Given the description of an element on the screen output the (x, y) to click on. 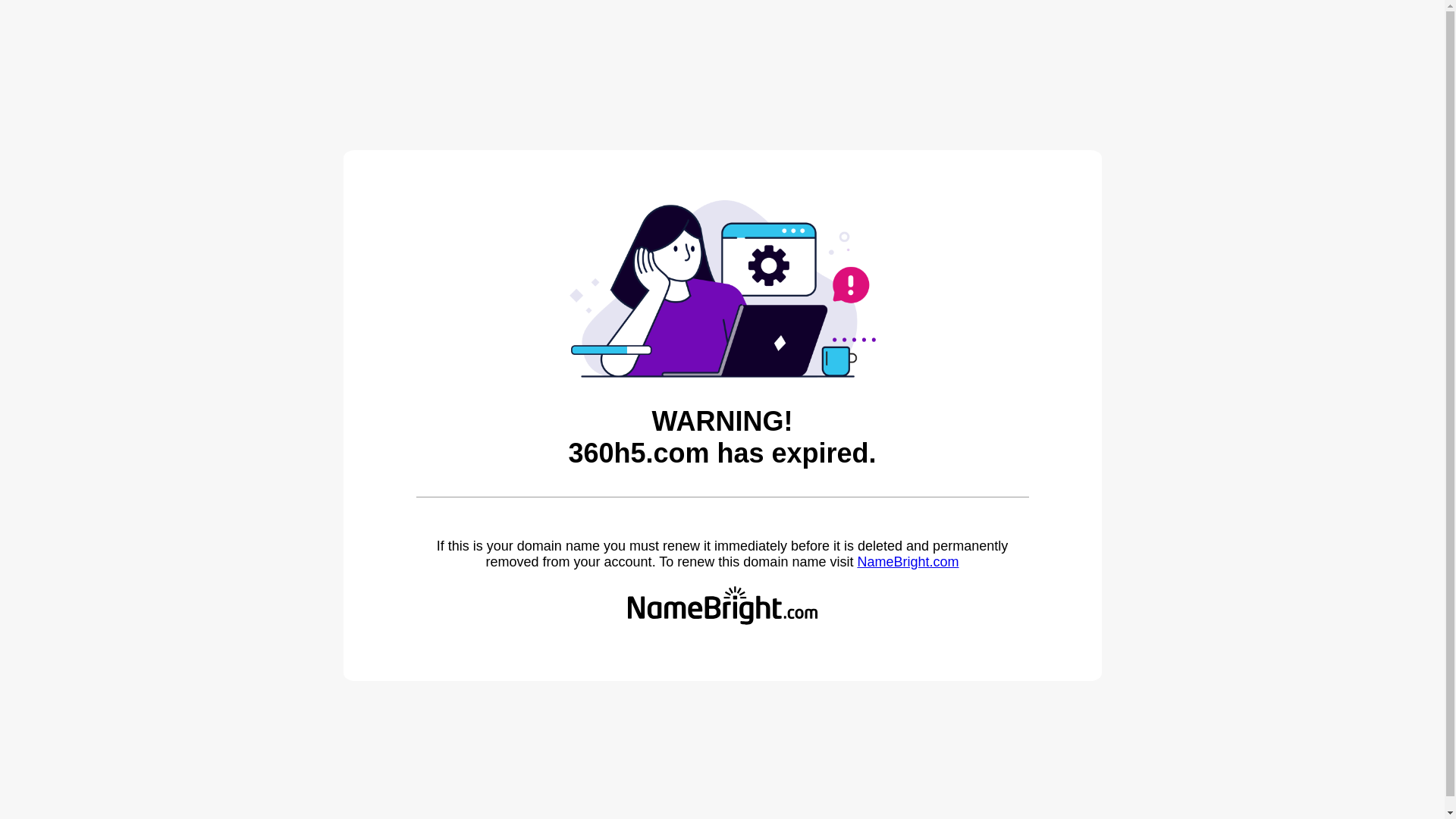
NameBright.com Element type: text (907, 561)
